Given the description of an element on the screen output the (x, y) to click on. 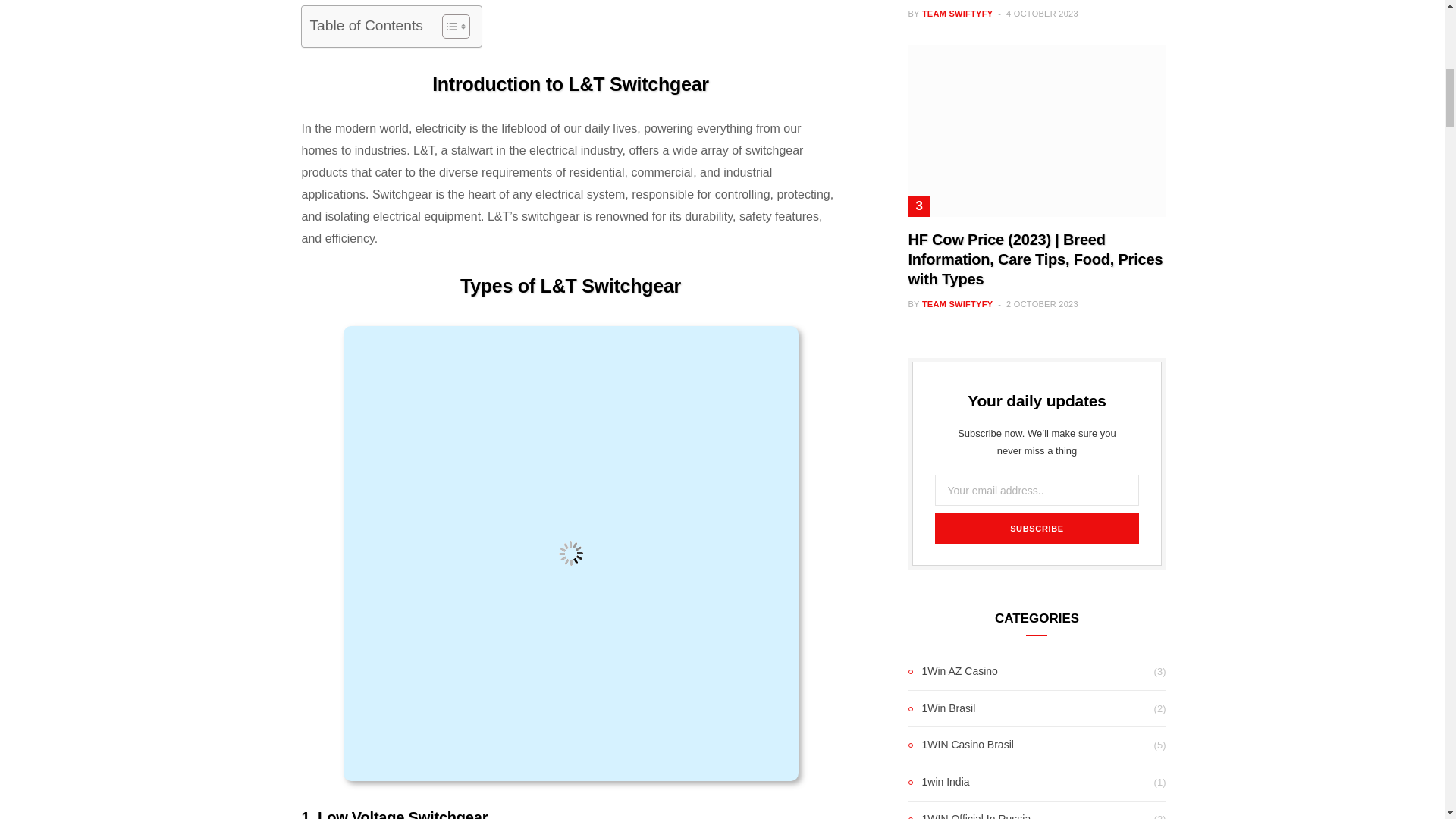
Subscribe (1036, 528)
